Given the description of an element on the screen output the (x, y) to click on. 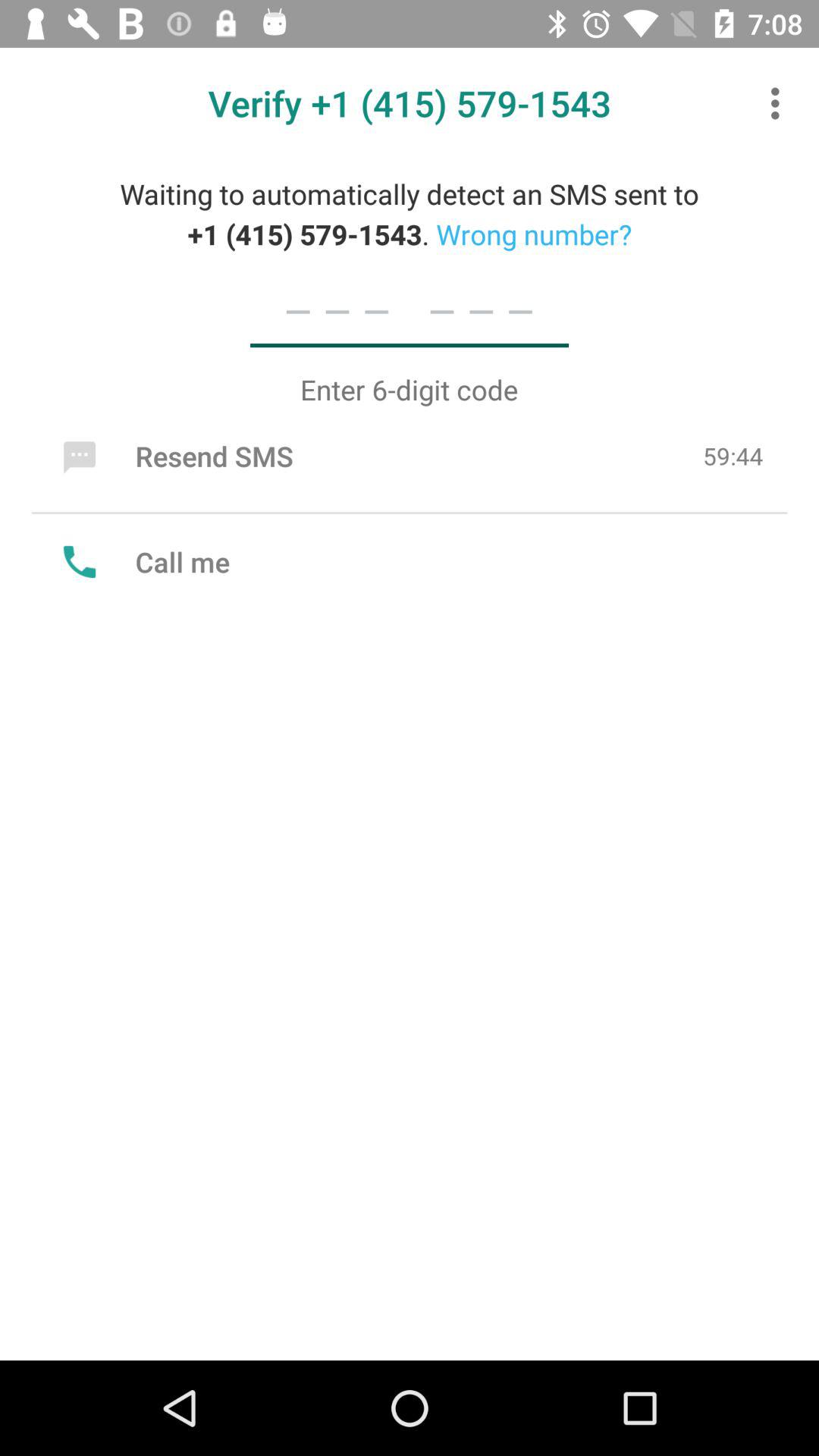
select item next to 59:44 icon (174, 455)
